Given the description of an element on the screen output the (x, y) to click on. 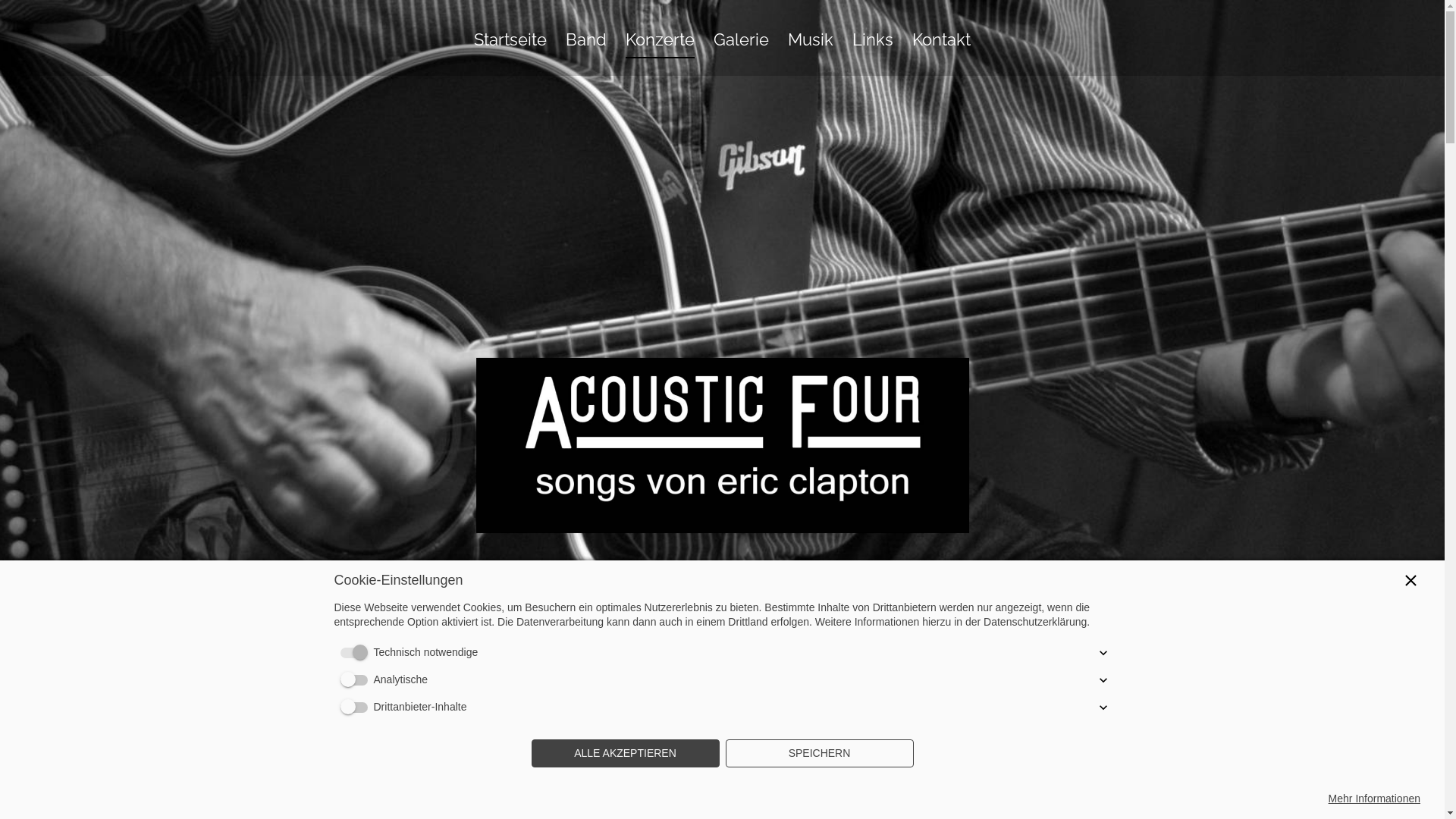
SPEICHERN Element type: text (818, 753)
Kontakt Element type: text (941, 43)
Galerie Element type: text (740, 43)
Band Element type: text (585, 43)
Musik Element type: text (810, 43)
Konzerte Element type: text (659, 43)
ALLE AKZEPTIEREN Element type: text (624, 753)
Mehr Informationen Element type: text (1374, 798)
Links Element type: text (872, 43)
Startseite Element type: text (509, 43)
